Given the description of an element on the screen output the (x, y) to click on. 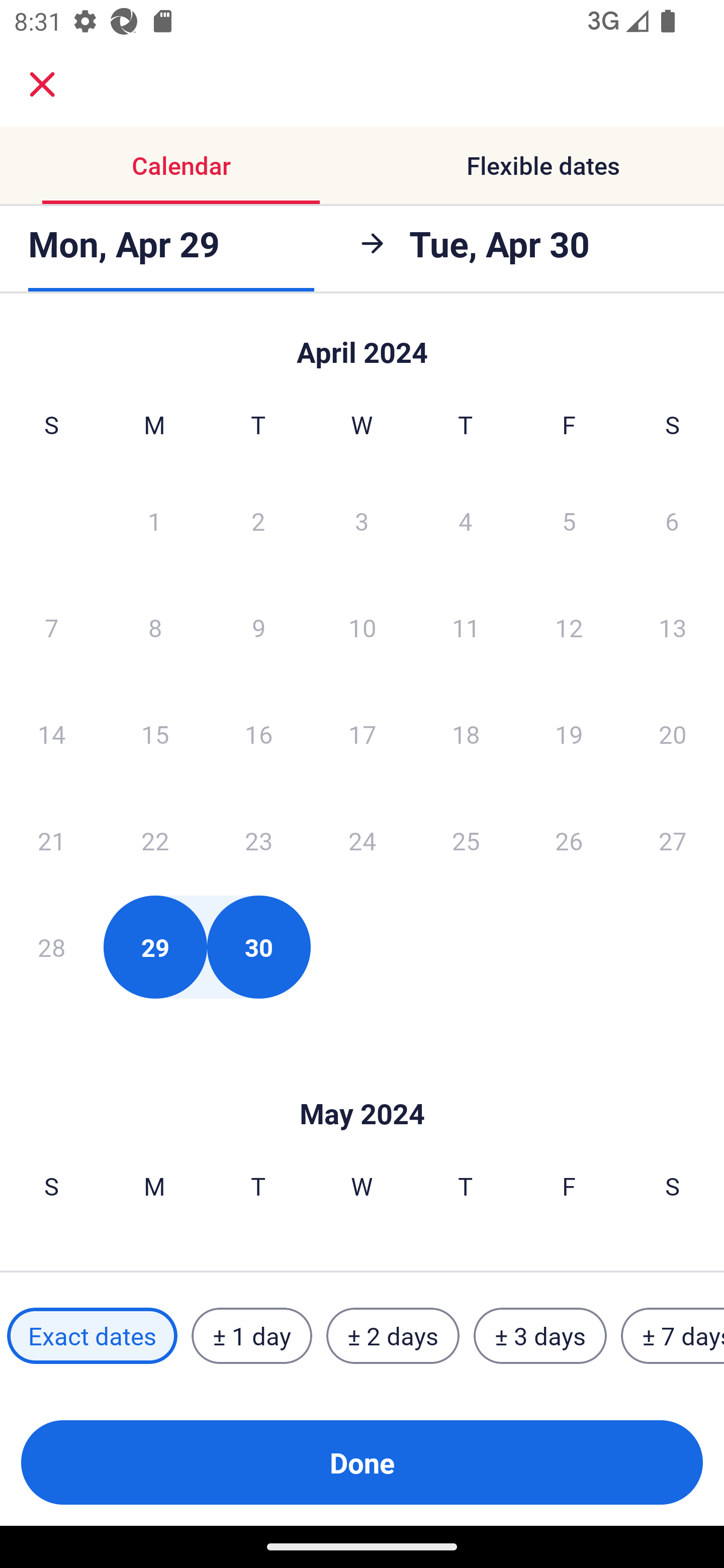
close. (42, 84)
Flexible dates (542, 164)
Skip to Done (362, 343)
1 Monday, April 1, 2024 (154, 520)
2 Tuesday, April 2, 2024 (257, 520)
3 Wednesday, April 3, 2024 (361, 520)
4 Thursday, April 4, 2024 (465, 520)
5 Friday, April 5, 2024 (568, 520)
6 Saturday, April 6, 2024 (672, 520)
7 Sunday, April 7, 2024 (51, 626)
8 Monday, April 8, 2024 (155, 626)
9 Tuesday, April 9, 2024 (258, 626)
10 Wednesday, April 10, 2024 (362, 626)
11 Thursday, April 11, 2024 (465, 626)
12 Friday, April 12, 2024 (569, 626)
13 Saturday, April 13, 2024 (672, 626)
14 Sunday, April 14, 2024 (51, 733)
15 Monday, April 15, 2024 (155, 733)
16 Tuesday, April 16, 2024 (258, 733)
17 Wednesday, April 17, 2024 (362, 733)
18 Thursday, April 18, 2024 (465, 733)
19 Friday, April 19, 2024 (569, 733)
20 Saturday, April 20, 2024 (672, 733)
21 Sunday, April 21, 2024 (51, 840)
22 Monday, April 22, 2024 (155, 840)
23 Tuesday, April 23, 2024 (258, 840)
24 Wednesday, April 24, 2024 (362, 840)
25 Thursday, April 25, 2024 (465, 840)
26 Friday, April 26, 2024 (569, 840)
27 Saturday, April 27, 2024 (672, 840)
28 Sunday, April 28, 2024 (51, 946)
Skip to Done (362, 1083)
Exact dates (92, 1335)
± 1 day (251, 1335)
± 2 days (392, 1335)
± 3 days (539, 1335)
± 7 days (672, 1335)
Done (361, 1462)
